Given the description of an element on the screen output the (x, y) to click on. 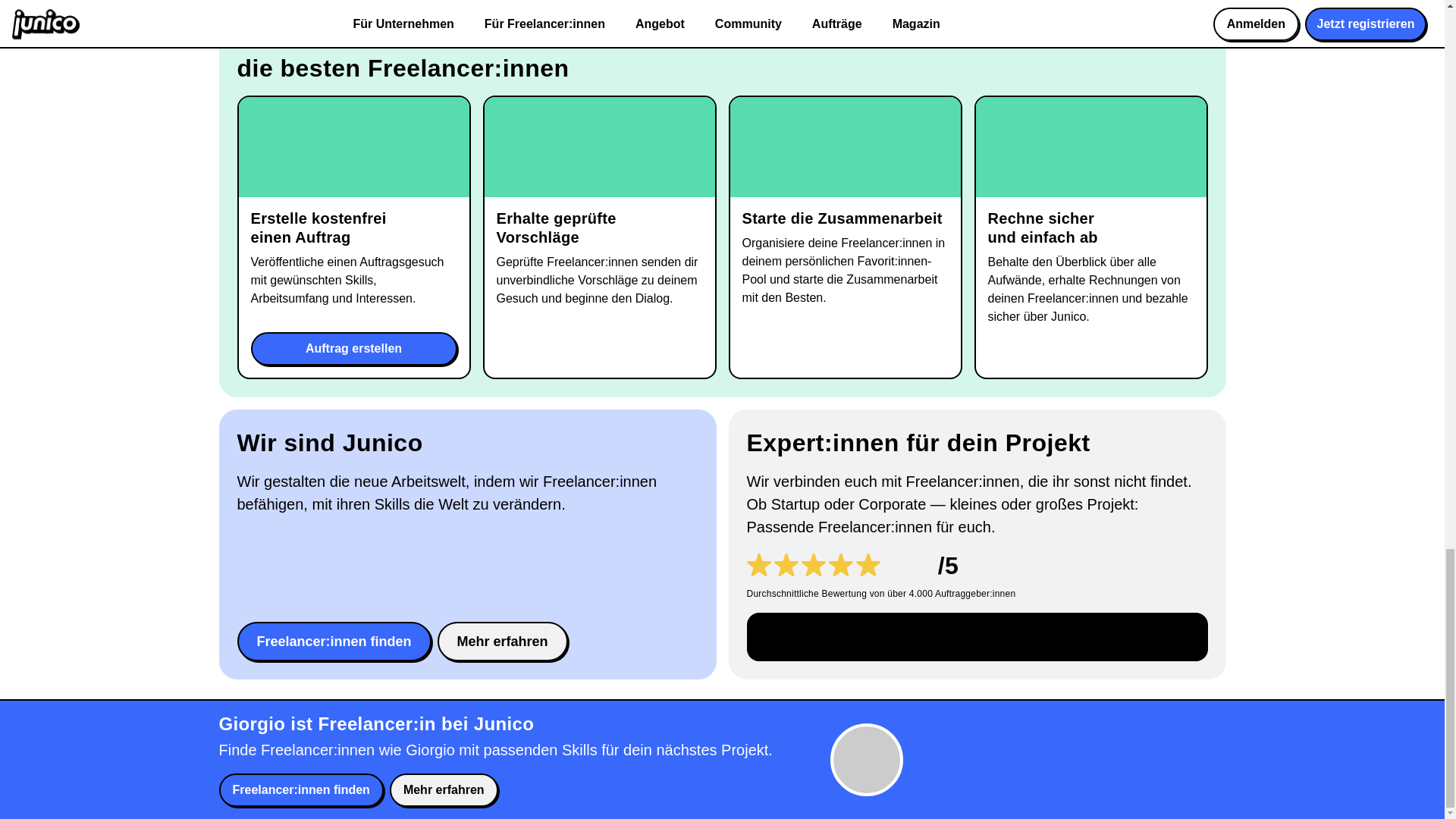
Freelancer:innen finden (332, 640)
Mehr erfahren (502, 640)
Auftrag erstellen (353, 348)
